Given the description of an element on the screen output the (x, y) to click on. 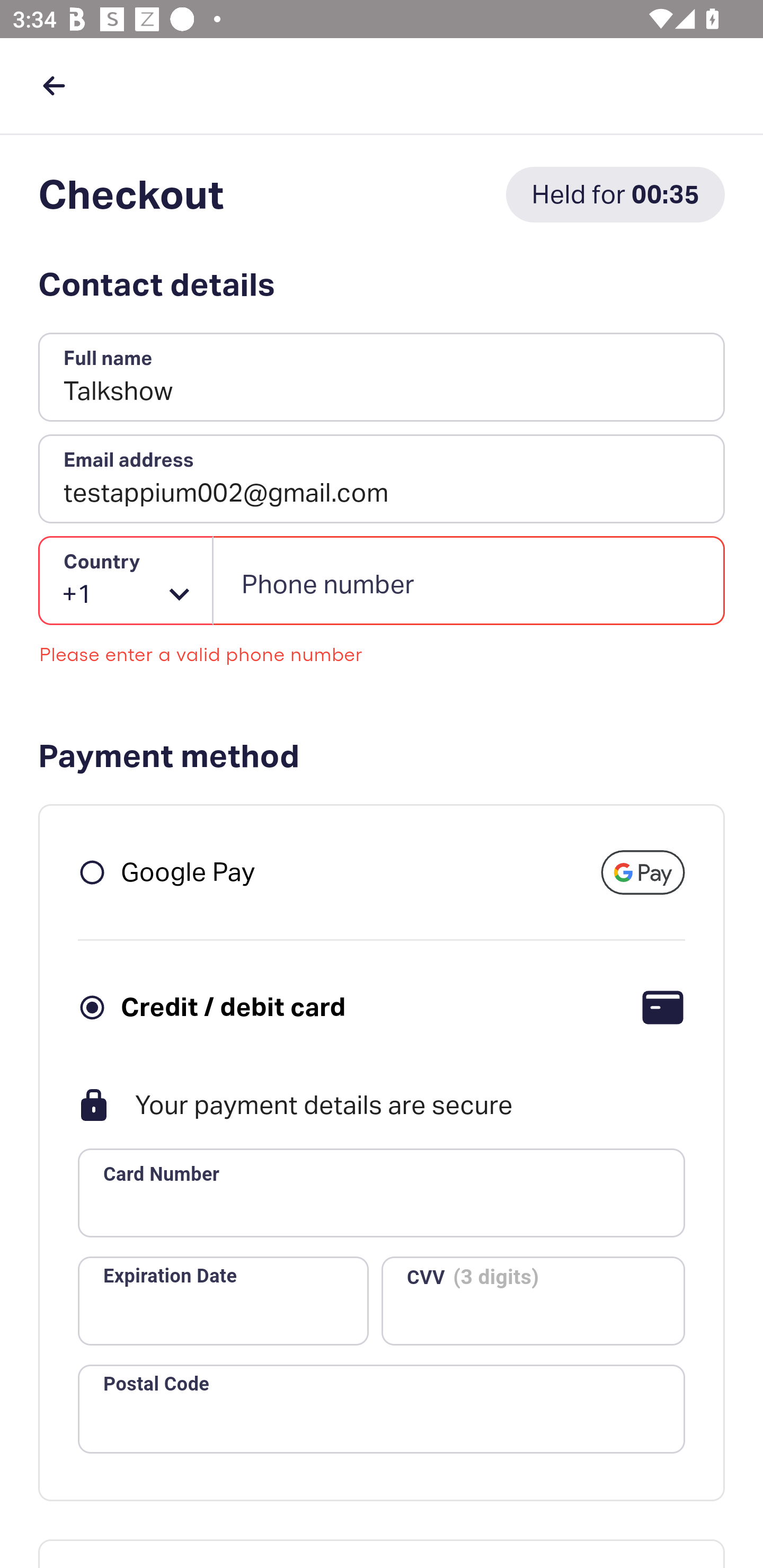
back button (53, 85)
Talkshow (381, 377)
testappium002@gmail.com (381, 478)
  +1 (126, 580)
Google Pay (187, 871)
Credit / debit card (233, 1006)
Card Number (381, 1192)
Expiration Date (222, 1300)
CVV (3 digits) (533, 1300)
Postal Code (381, 1408)
